Given the description of an element on the screen output the (x, y) to click on. 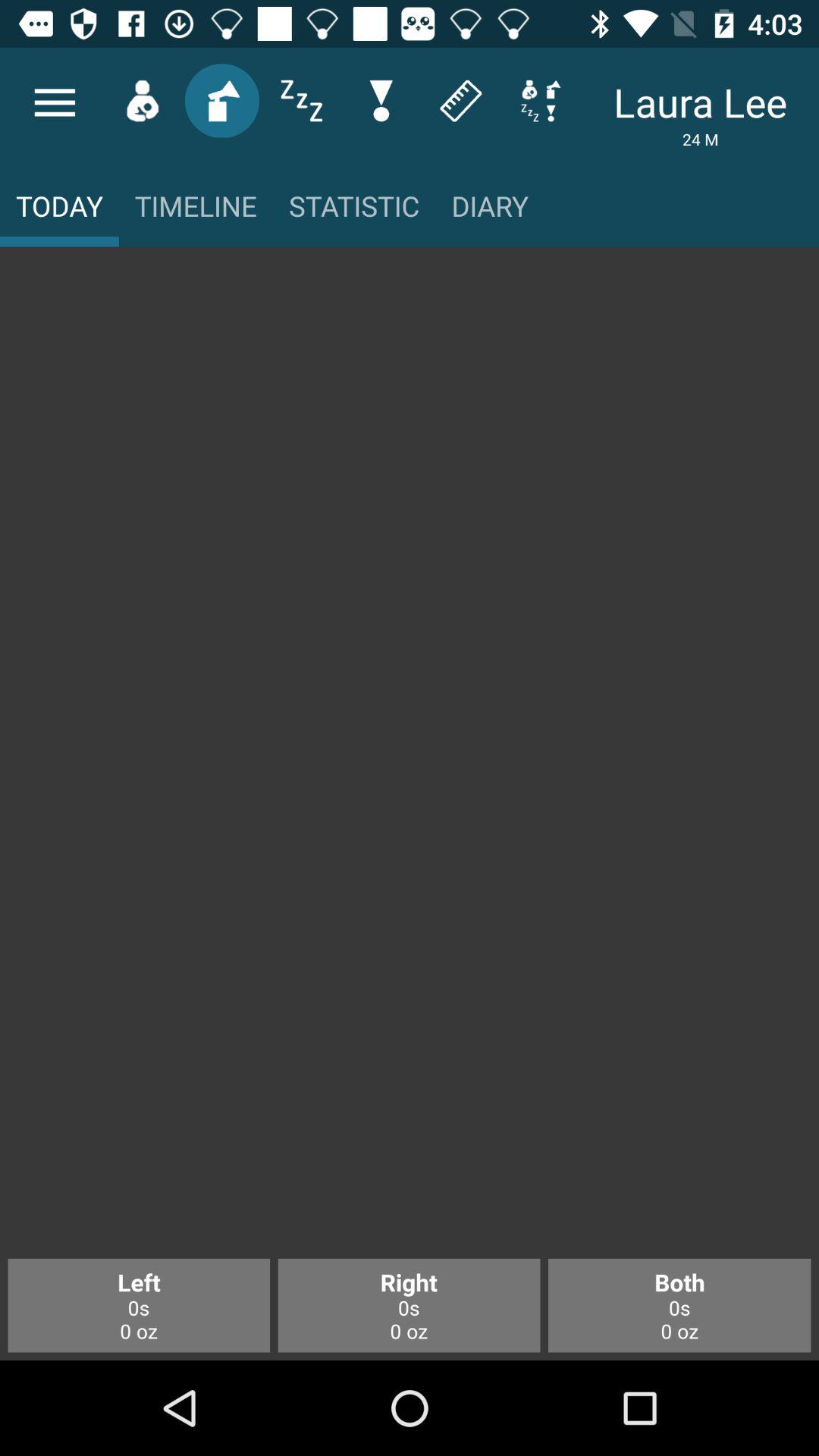
select screen (409, 760)
